Given the description of an element on the screen output the (x, y) to click on. 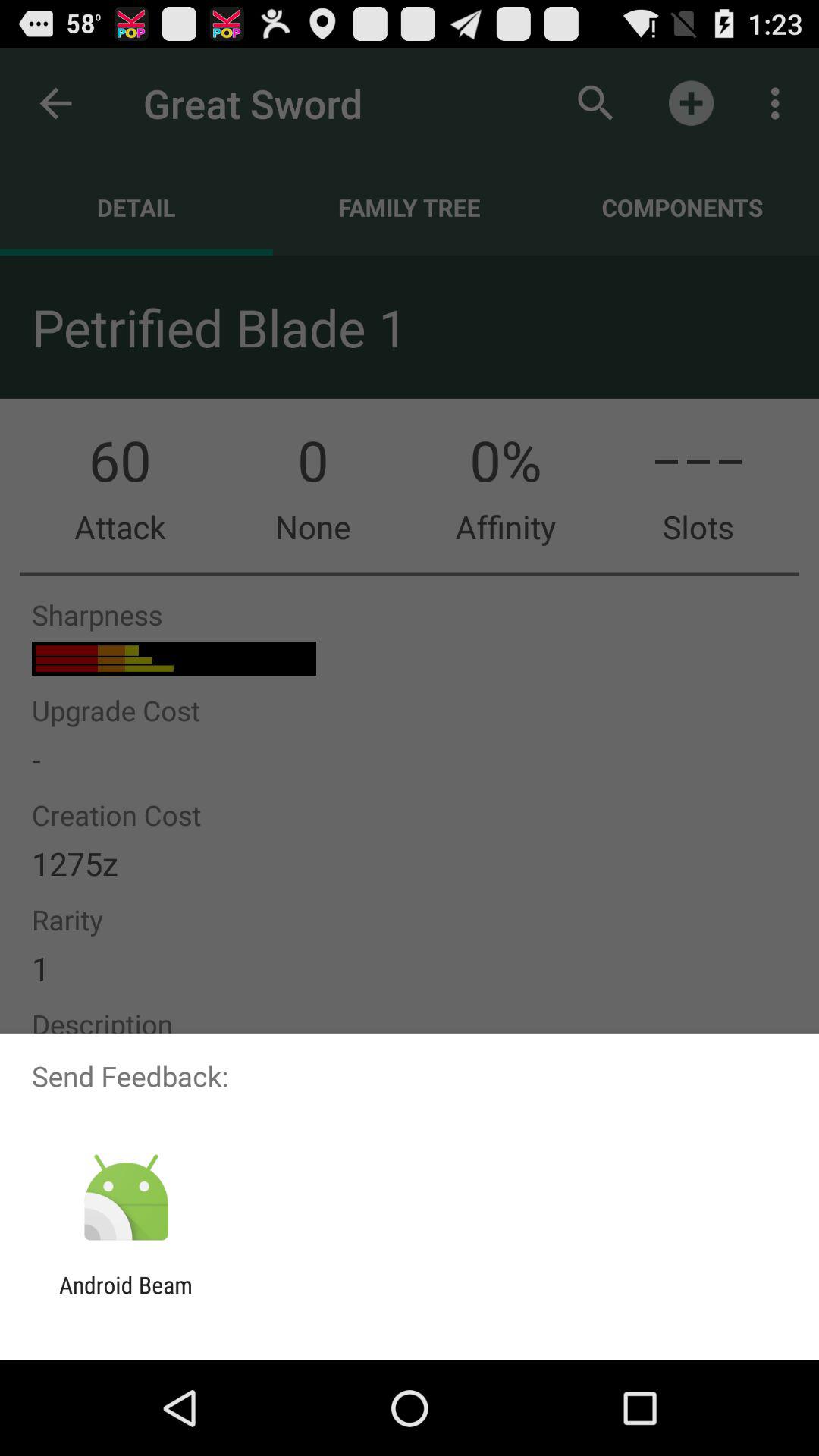
turn off android beam icon (125, 1298)
